Given the description of an element on the screen output the (x, y) to click on. 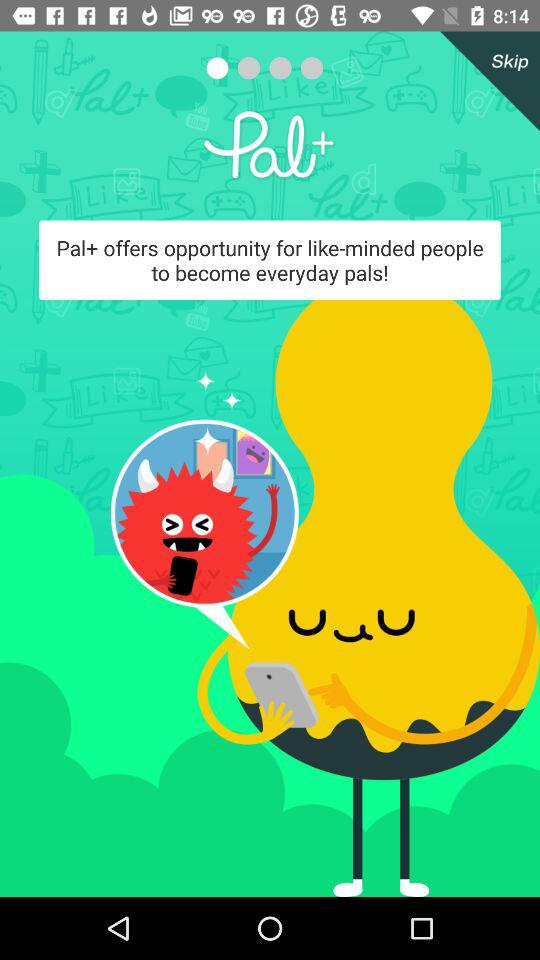
to skip adding pals (486, 81)
